Given the description of an element on the screen output the (x, y) to click on. 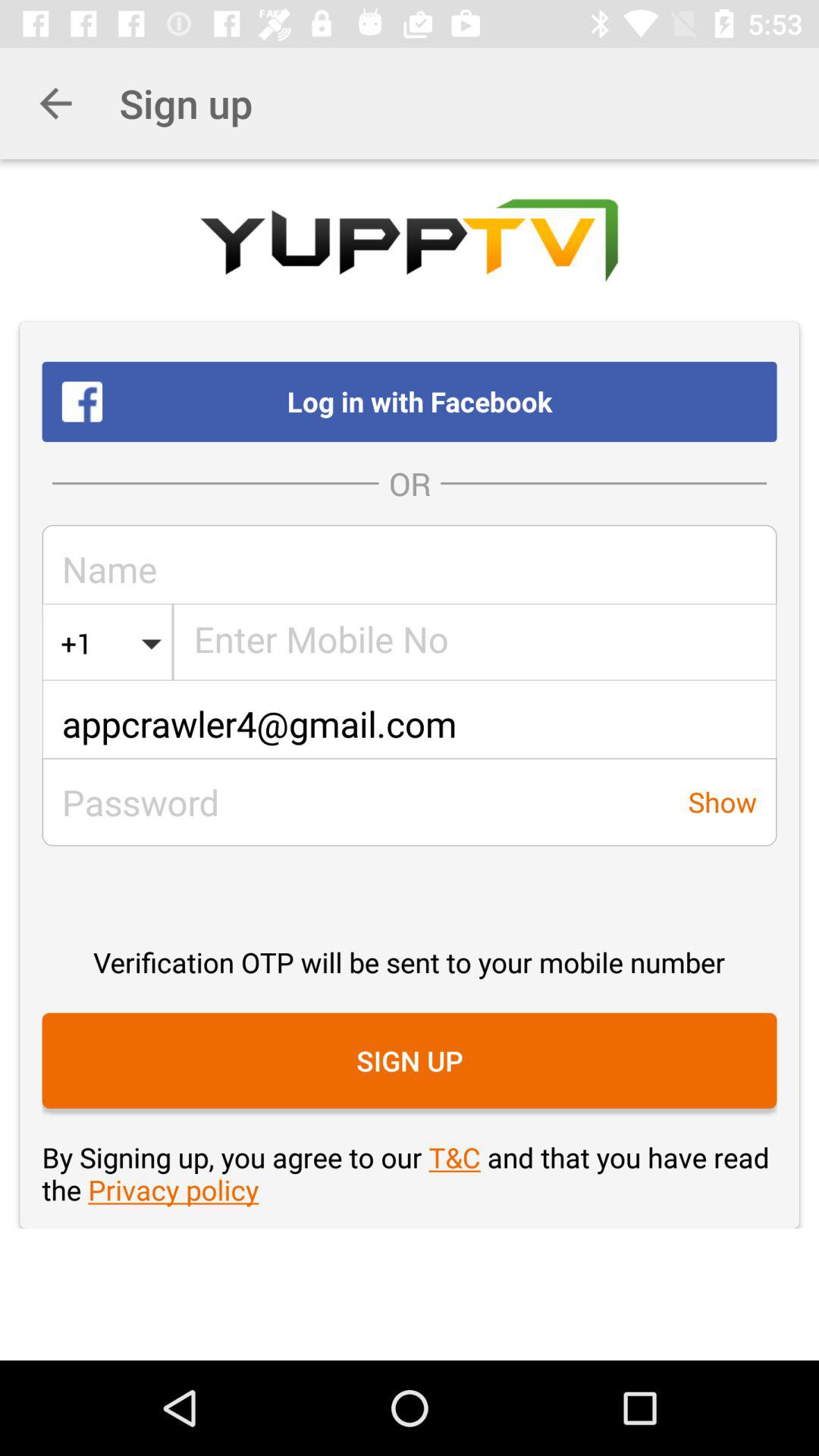
press item above the appcrawler4@gmail.com (77, 643)
